Given the description of an element on the screen output the (x, y) to click on. 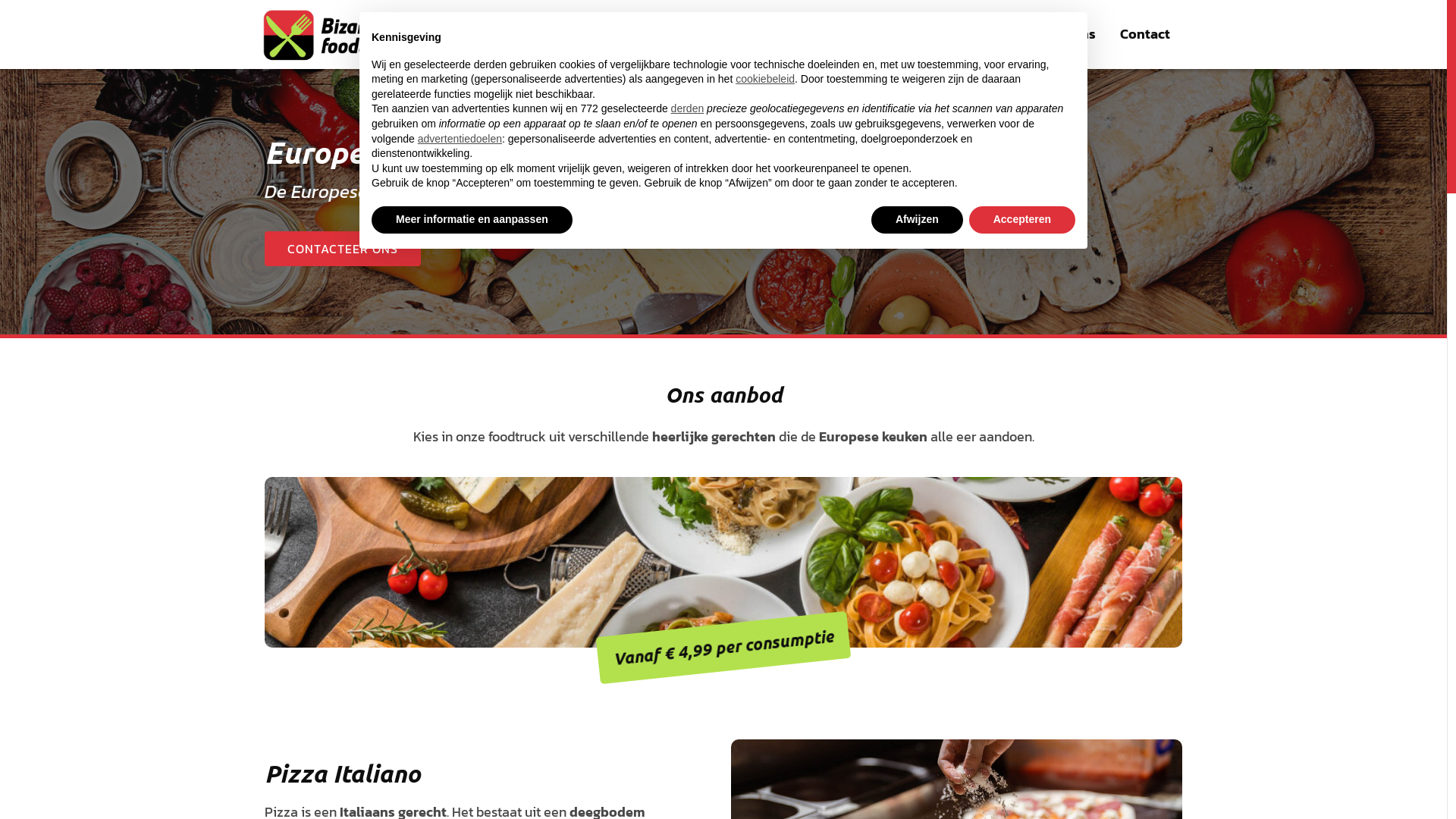
Home Element type: text (904, 34)
cookiebeleid Element type: text (764, 78)
derden Element type: text (687, 108)
bizarre-foodtruck@outlook.com Element type: text (555, 47)
Afwijzen Element type: text (917, 219)
advertentiedoelen Element type: text (459, 138)
Over ons Element type: text (1066, 34)
Meer informatie en aanpassen Element type: text (471, 219)
Contact Element type: text (1145, 34)
0483 24 23 33 Element type: text (555, 20)
Accepteren Element type: text (1022, 219)
CONTACTEER ONS Element type: text (342, 248)
